Given the description of an element on the screen output the (x, y) to click on. 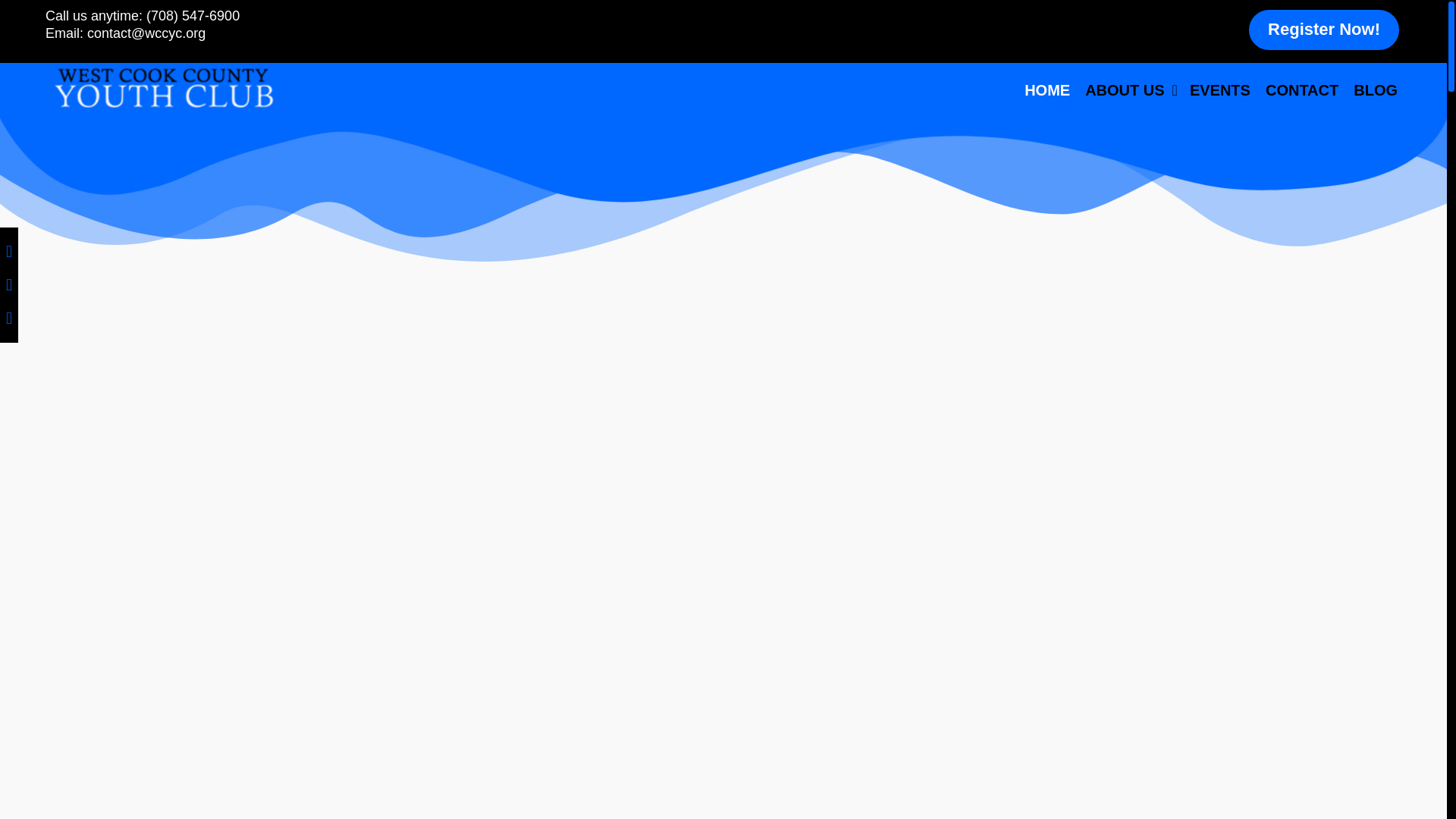
HOME (1046, 90)
CONTACT (1301, 90)
BLOG (1375, 90)
Register Now! (1323, 29)
West Cook County Youth Club (163, 86)
ABOUT US (1129, 90)
West Cook County Youth Club (163, 87)
EVENTS (1219, 90)
